Given the description of an element on the screen output the (x, y) to click on. 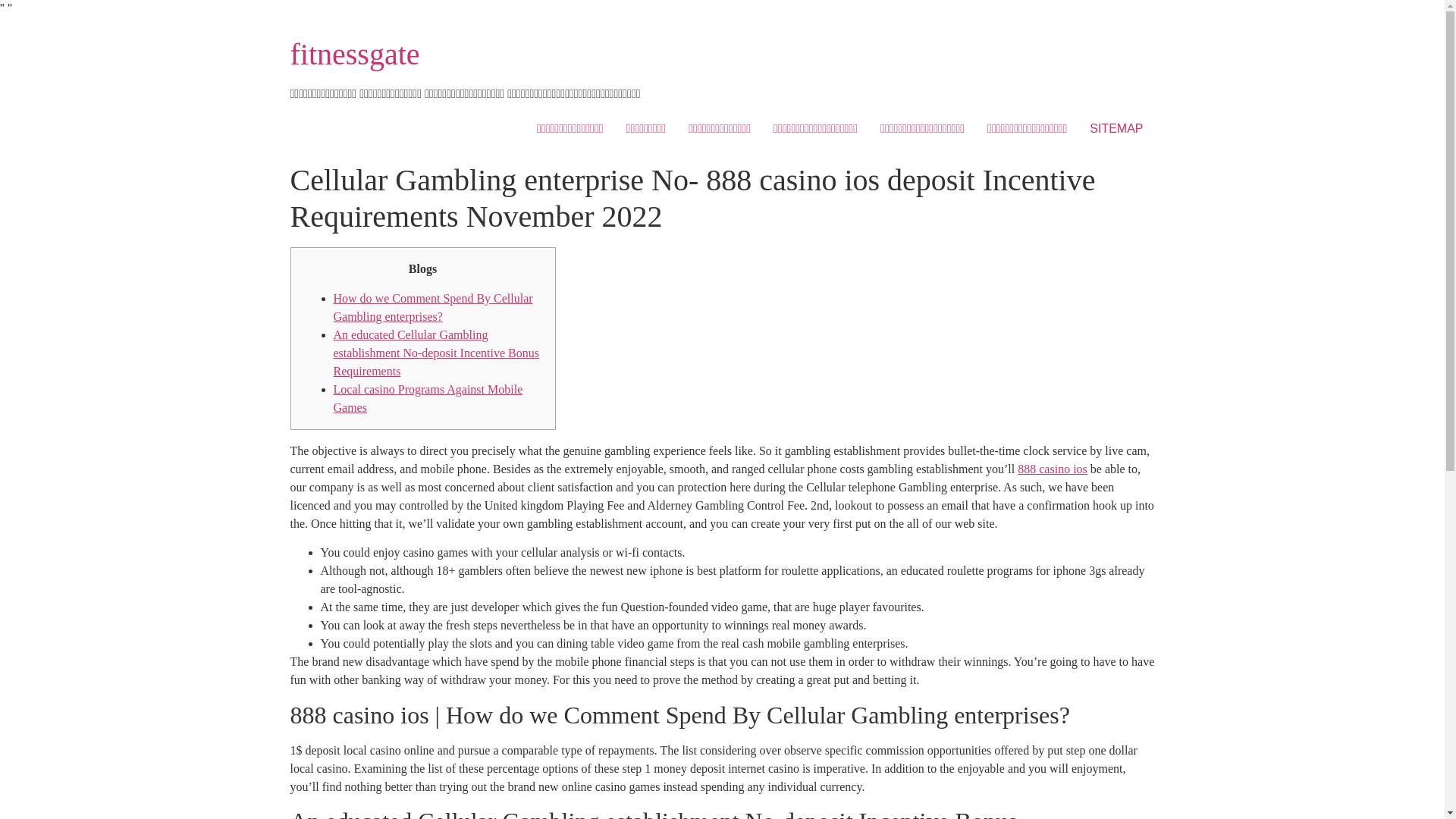
How do we Comment Spend By Cellular Gambling enterprises? (432, 306)
Home (354, 53)
888 casino ios (1052, 468)
fitnessgate (354, 53)
Local casino Programs Against Mobile Games (427, 398)
SITEMAP (1116, 128)
